Given the description of an element on the screen output the (x, y) to click on. 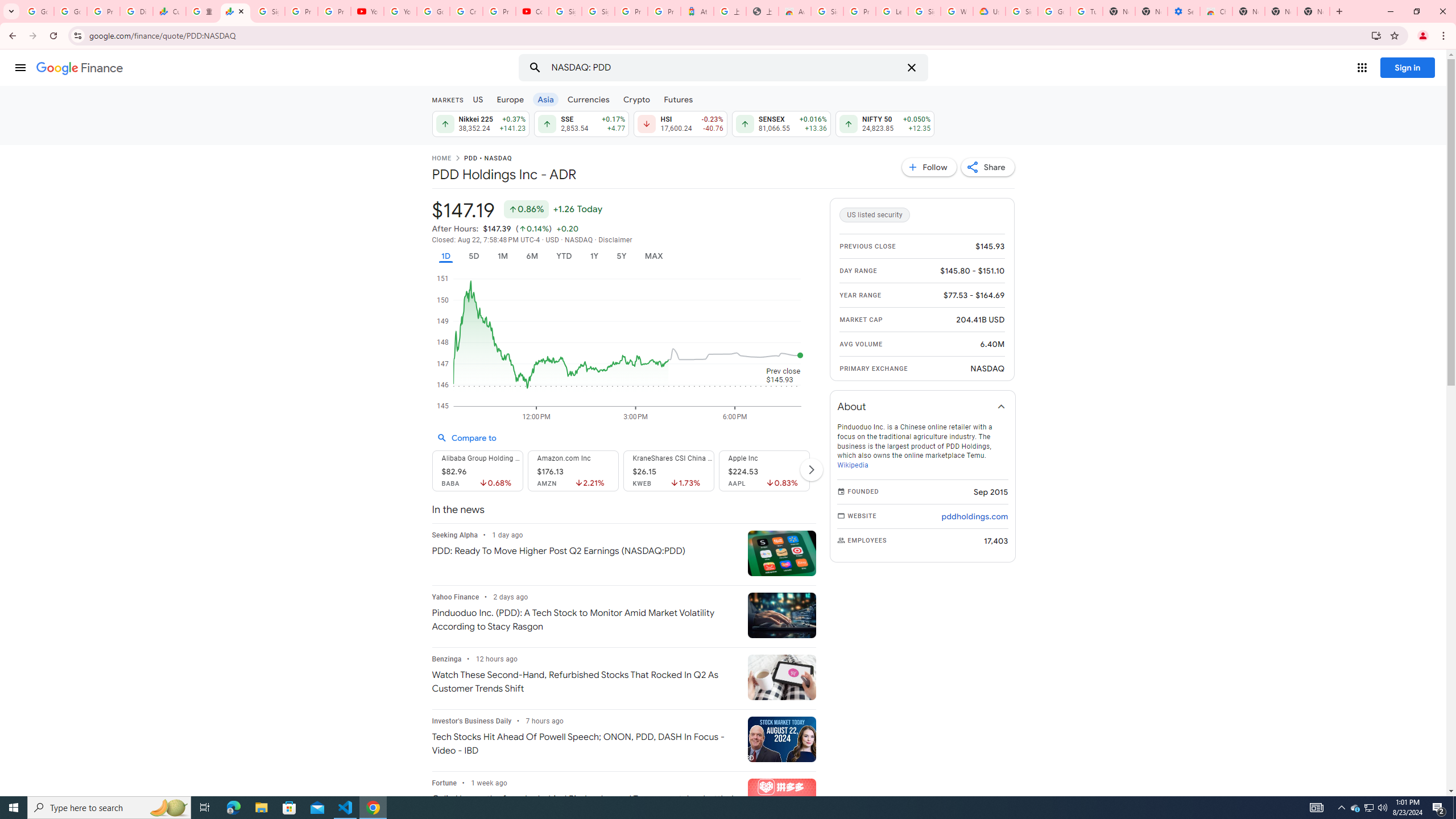
Currencies (588, 99)
Asia (545, 99)
1M (501, 255)
Search for stocks, ETFs & more (724, 67)
Content Creator Programs & Opportunities - YouTube Creators (532, 11)
Google Account Help (433, 11)
Wikipedia (852, 465)
SSE 2,853.54 Up by 0.28% +4.77 (581, 123)
